Given the description of an element on the screen output the (x, y) to click on. 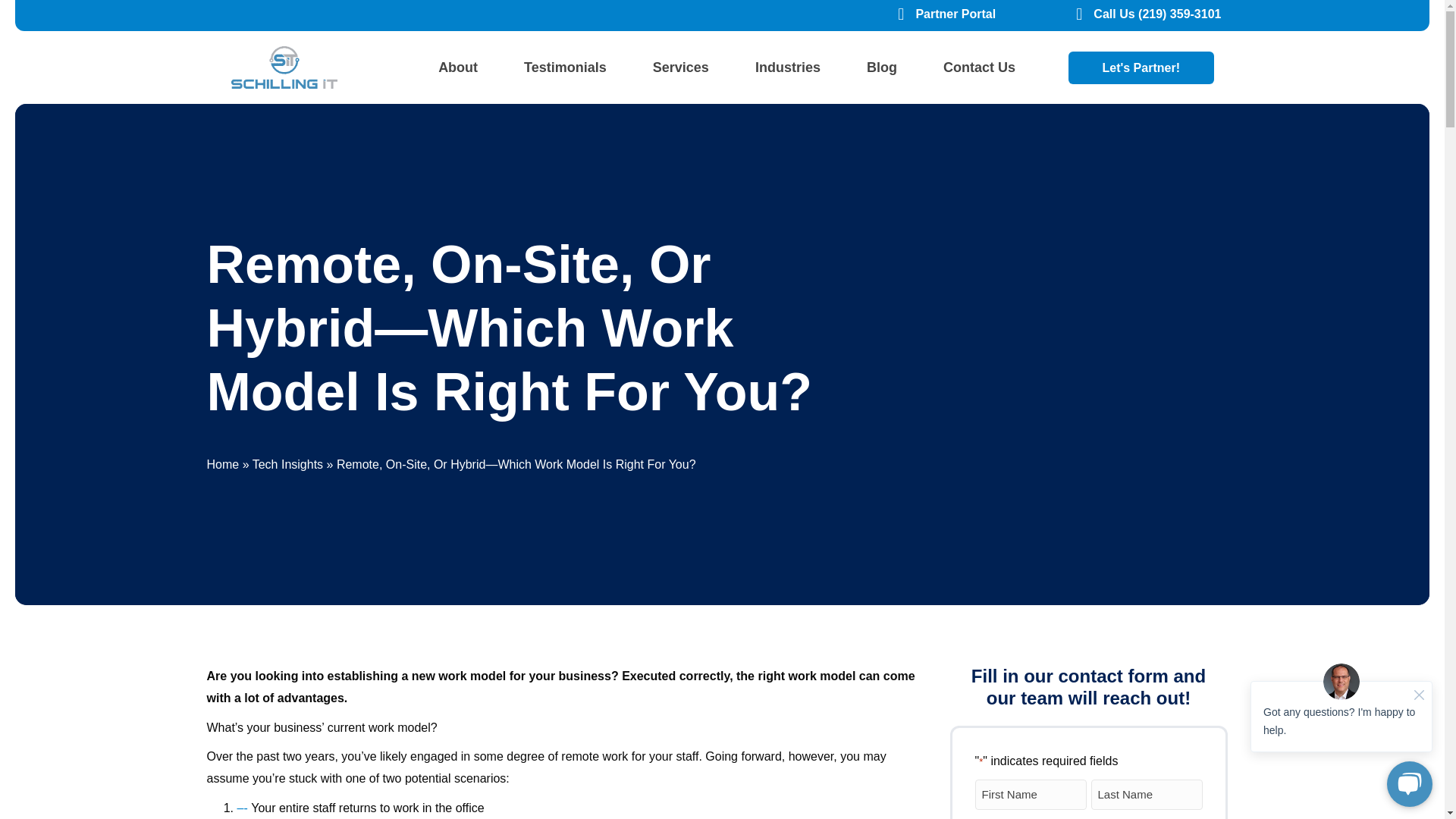
Testimonials (564, 67)
Partner Portal (955, 14)
Industries (787, 67)
Contact Us (979, 67)
Blog (882, 67)
Services (681, 67)
About (457, 67)
